Given the description of an element on the screen output the (x, y) to click on. 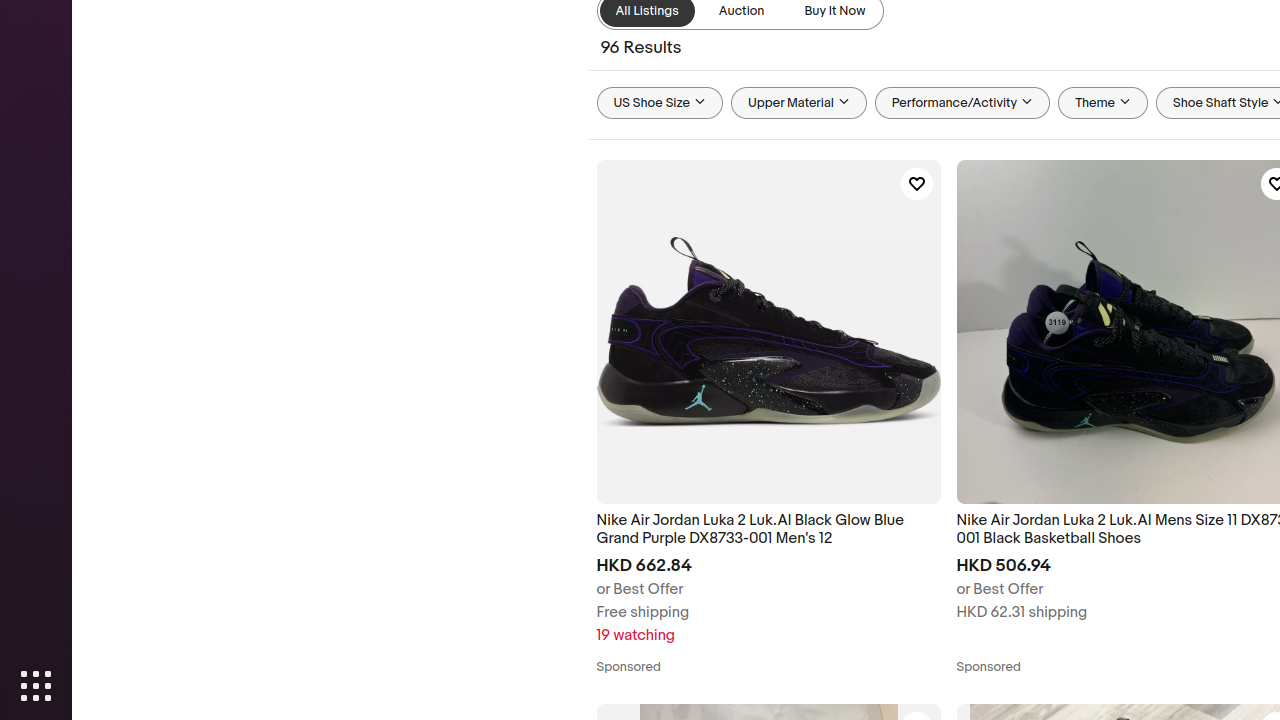
Upper Material Element type: push-button (799, 103)
Nike Air Jordan Luka 2 Luk.Al Black Glow Blue Grand Purple DX8733-001 Men's 12 Element type: link (768, 530)
